Given the description of an element on the screen output the (x, y) to click on. 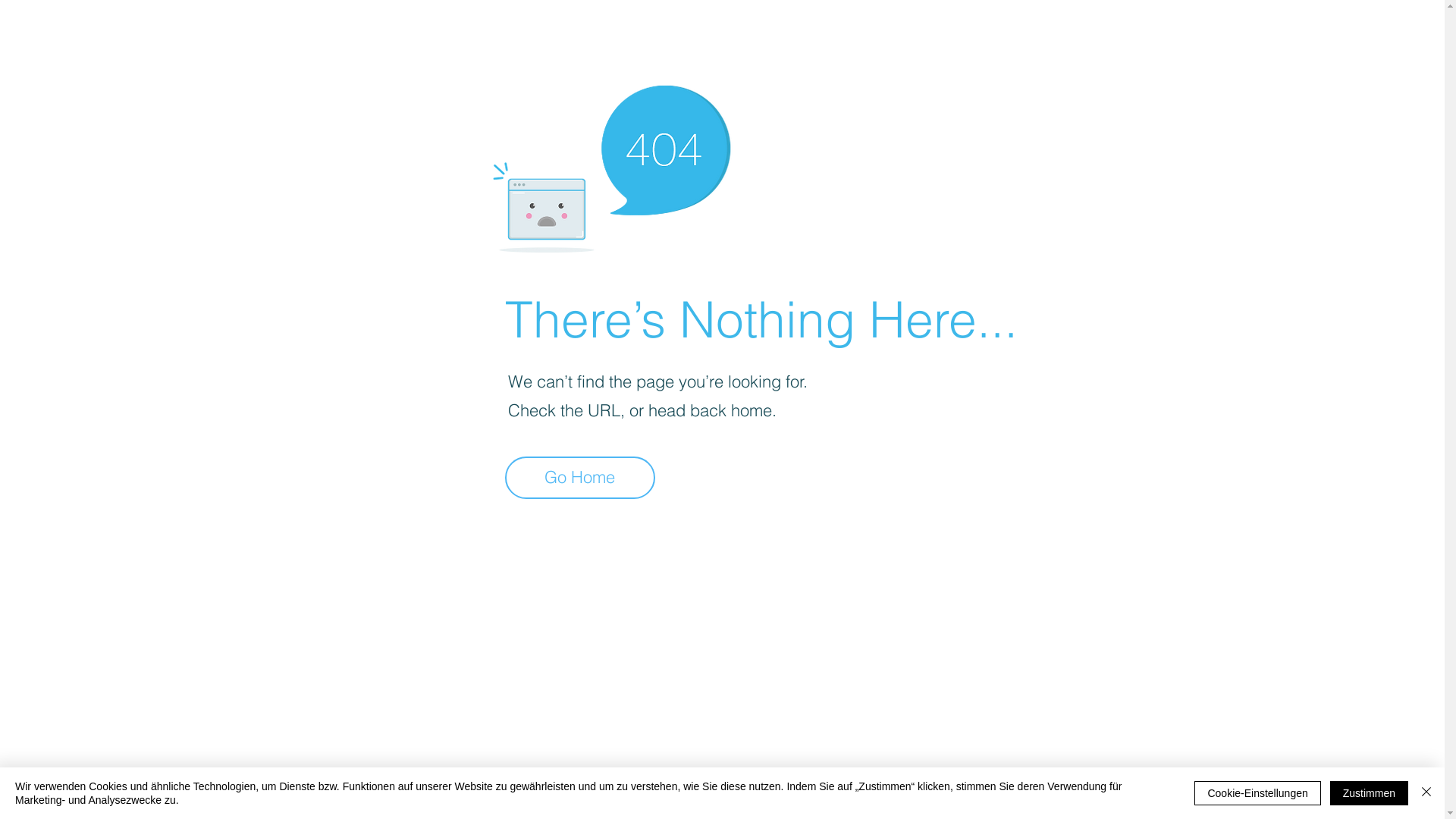
Cookie-Einstellungen Element type: text (1257, 793)
Zustimmen Element type: text (1369, 793)
404-icon_2.png Element type: hover (610, 164)
Go Home Element type: text (580, 477)
